Given the description of an element on the screen output the (x, y) to click on. 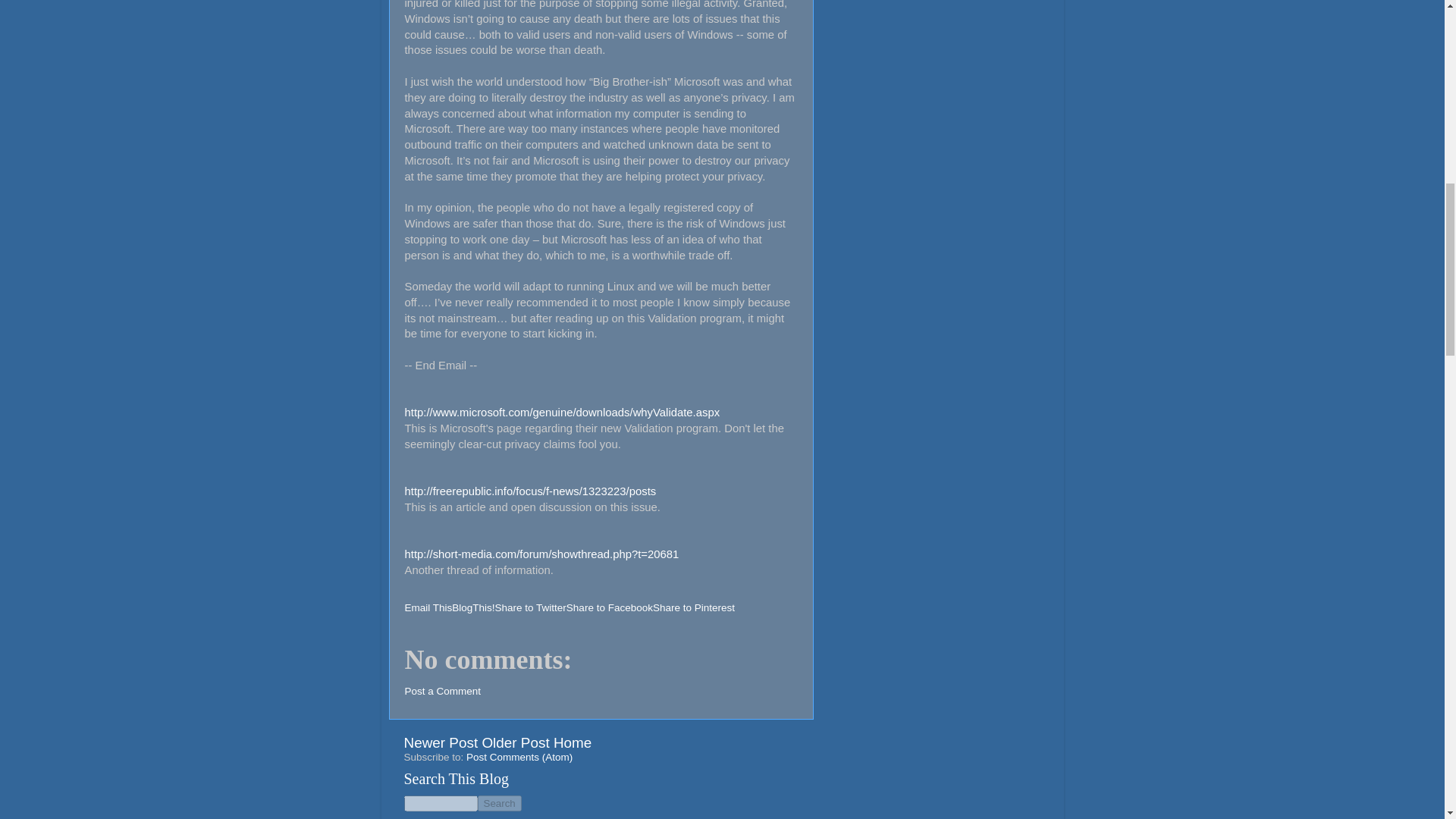
Search (499, 803)
BlogThis! (473, 607)
Older Post (514, 742)
Email This (428, 607)
Home (572, 742)
Search (499, 803)
Older Post (514, 742)
Share to Twitter (530, 607)
Post a Comment (442, 690)
Newer Post (440, 742)
Share to Facebook (609, 607)
Share to Facebook (609, 607)
Share to Pinterest (693, 607)
Email This (428, 607)
search (499, 803)
